Given the description of an element on the screen output the (x, y) to click on. 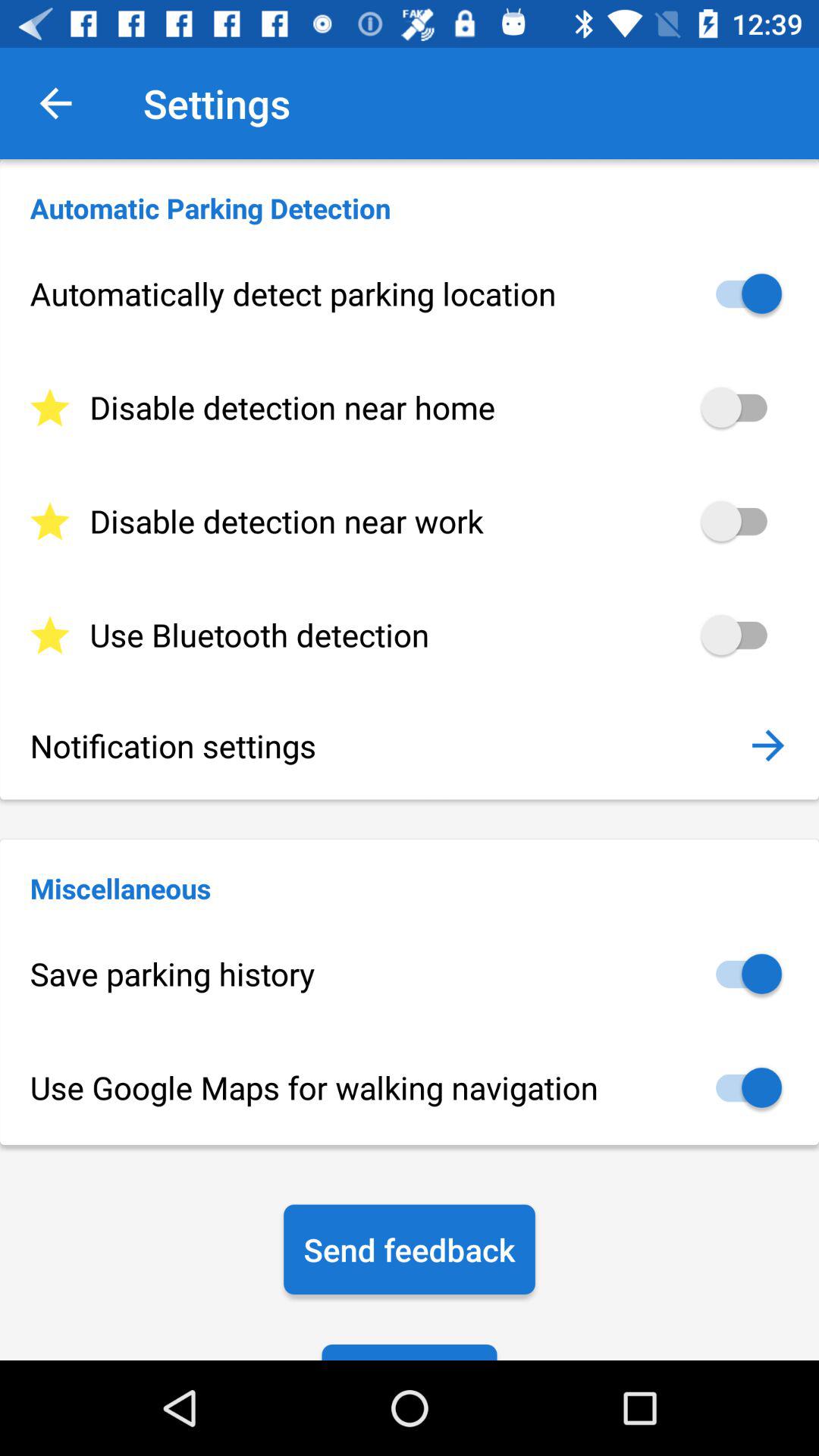
turn on icon below the use bluetooth detection item (767, 745)
